Given the description of an element on the screen output the (x, y) to click on. 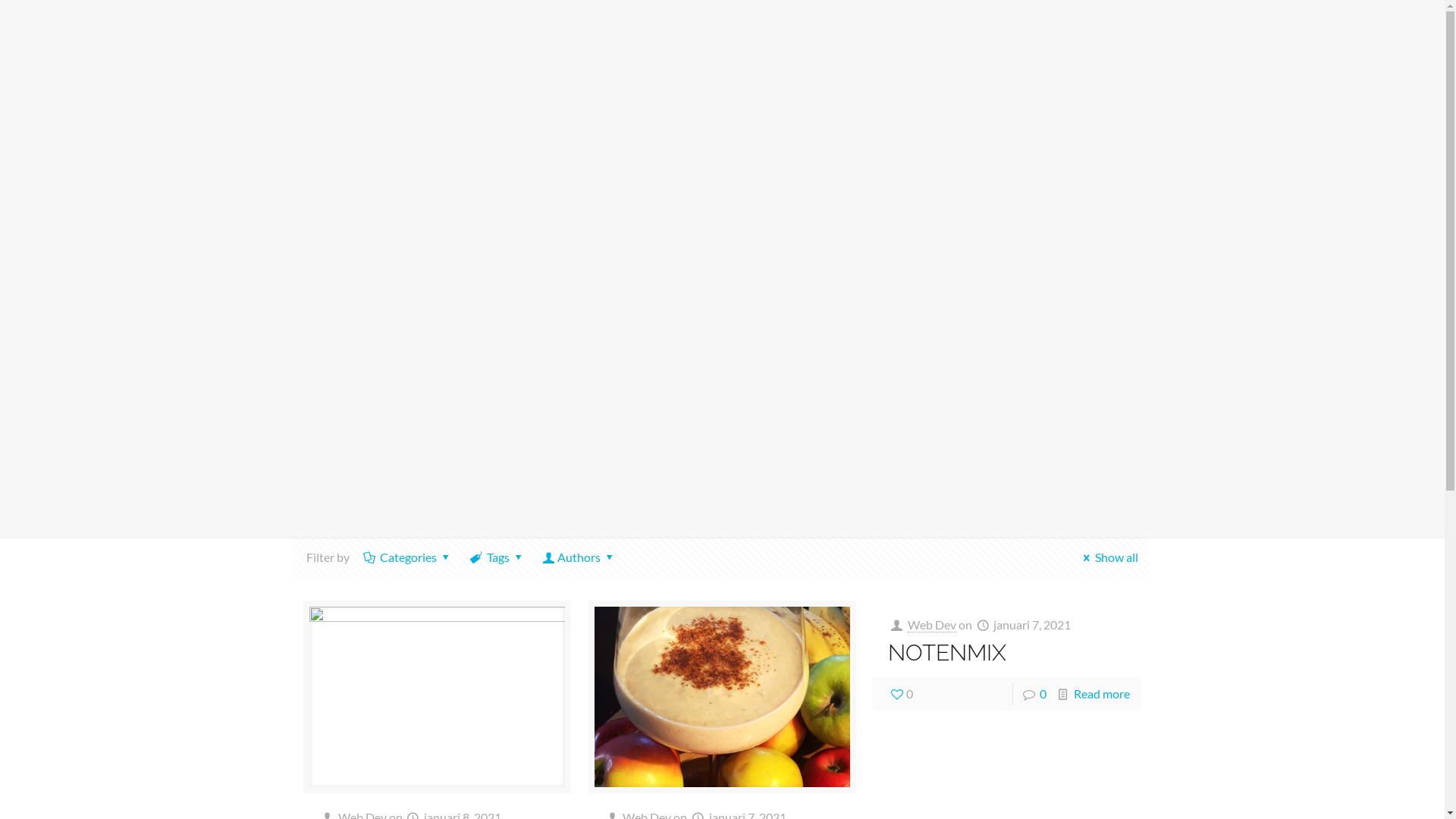
Authors Element type: text (578, 556)
Categories Element type: text (408, 556)
Tags Element type: text (498, 556)
Read more Element type: text (1101, 693)
0 Element type: text (900, 693)
Web Dev Element type: text (931, 624)
0 Element type: text (1042, 693)
Show all Element type: text (1108, 556)
NOTENMIX Element type: text (947, 652)
